Given the description of an element on the screen output the (x, y) to click on. 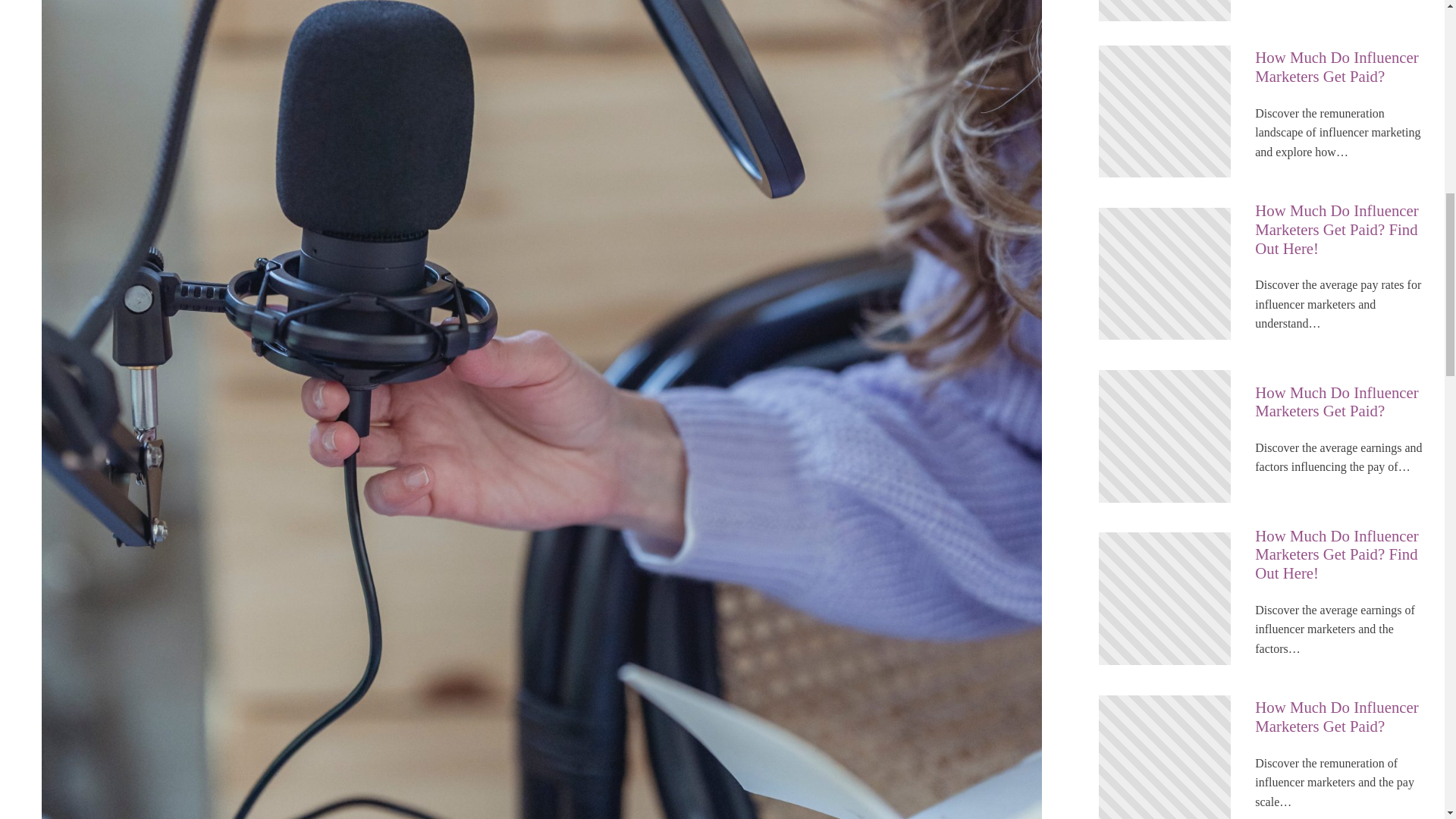
How Much Do Influencer Marketers Get Paid? (1342, 402)
How Much Do Influencer Marketers Get Paid? Find Out Here! (1342, 229)
How Much Do Influencer Marketers Get Paid? (1342, 67)
How Much Do Influencer Marketers Get Paid? Find Out Here! (1342, 555)
How Much Do Influencer Marketers Get Paid? (1342, 717)
